Given the description of an element on the screen output the (x, y) to click on. 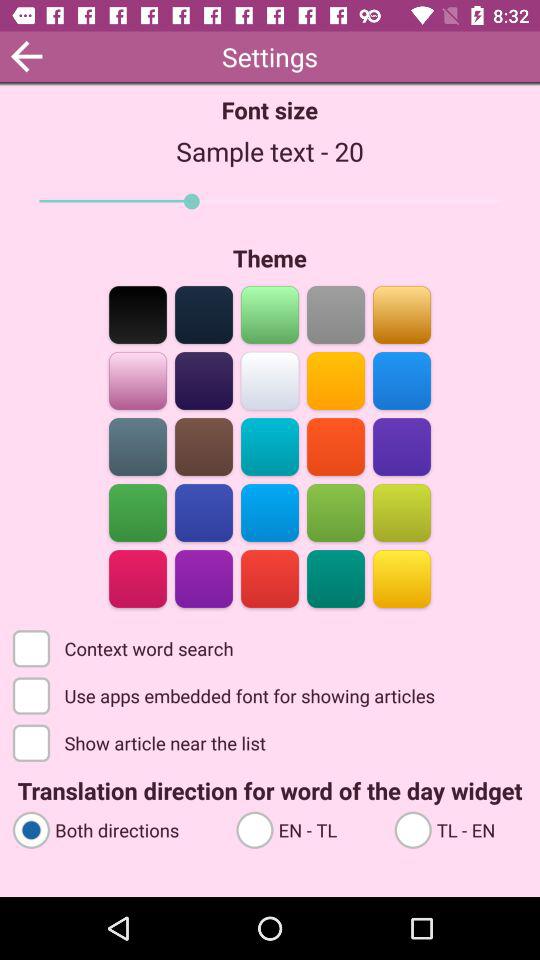
theme color option (137, 379)
